Given the description of an element on the screen output the (x, y) to click on. 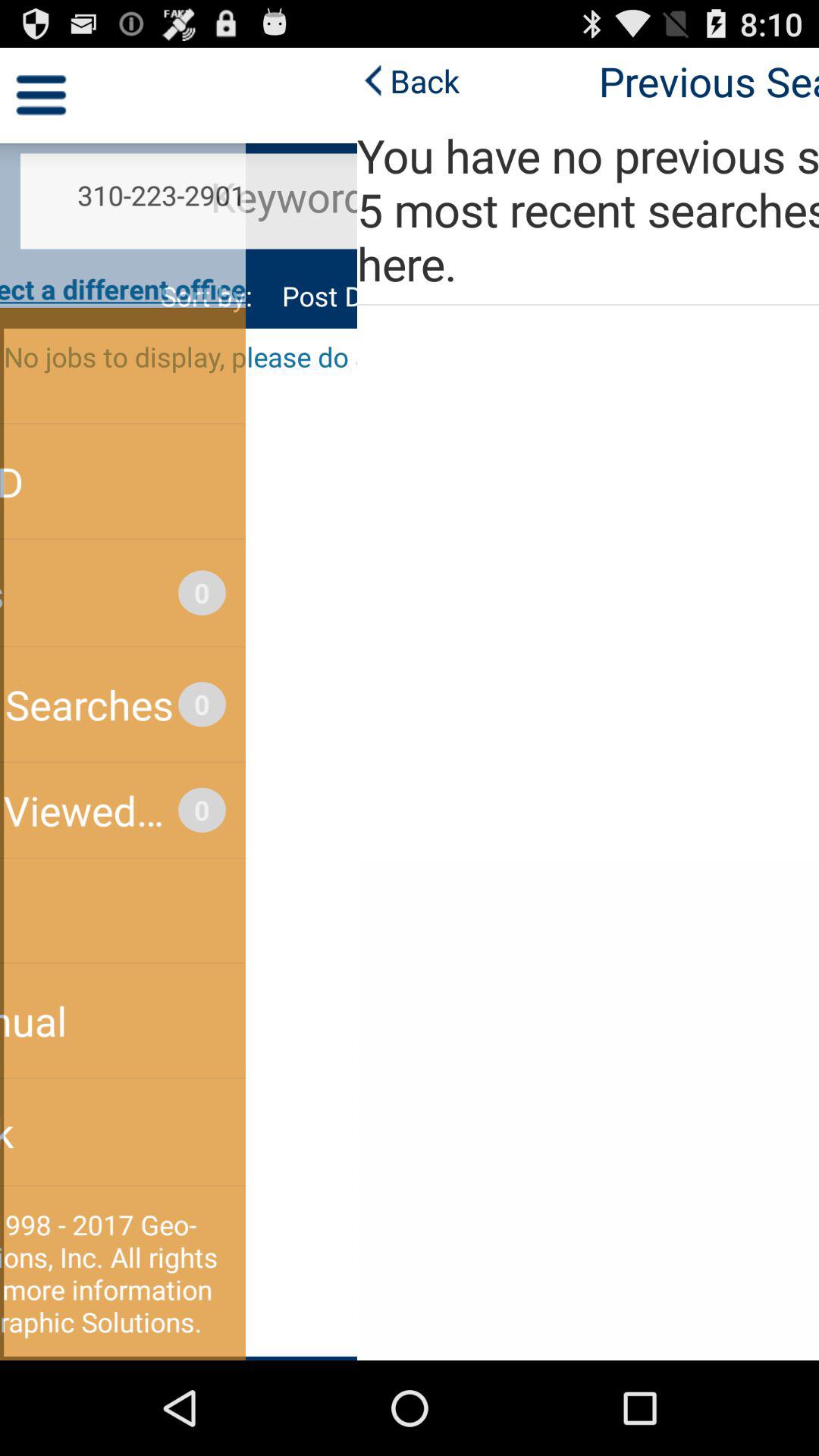
launch the back at the top left corner (51, 80)
